Given the description of an element on the screen output the (x, y) to click on. 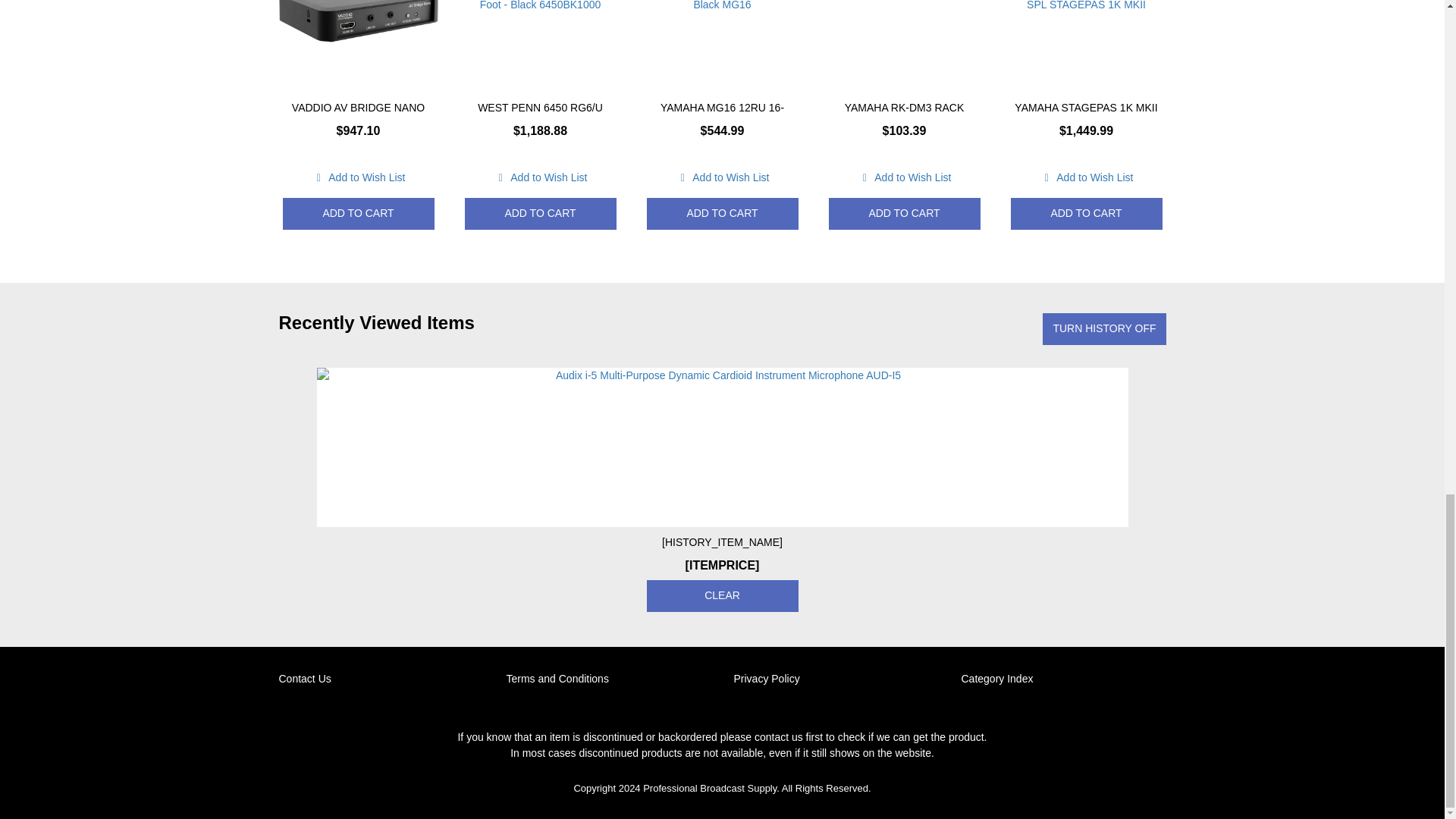
ADD TO CART (357, 214)
Add to Wish List (358, 177)
